Given the description of an element on the screen output the (x, y) to click on. 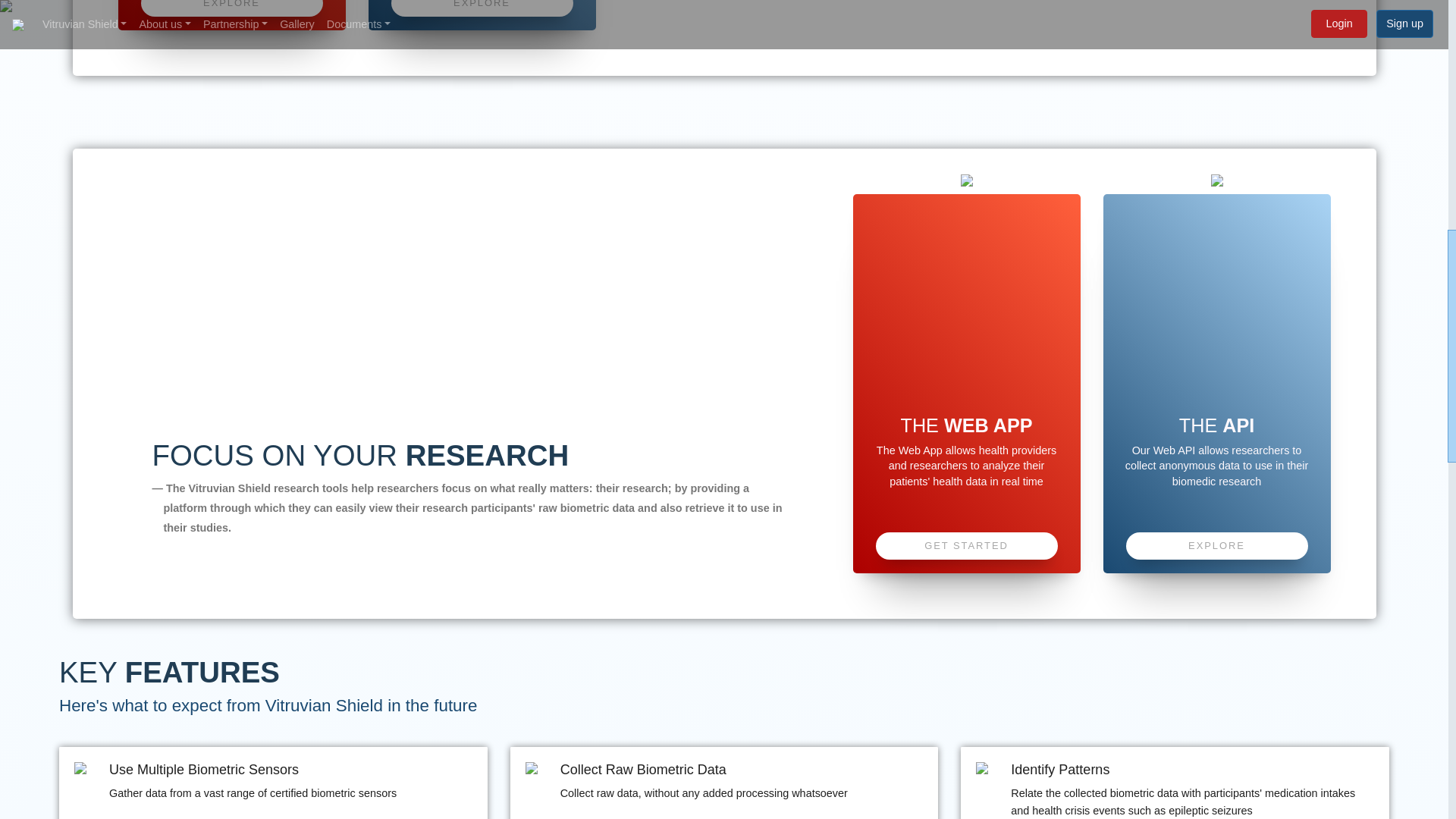
GET STARTED (966, 545)
EXPLORE (482, 8)
EXPLORE (1216, 545)
EXPLORE (232, 8)
